Given the description of an element on the screen output the (x, y) to click on. 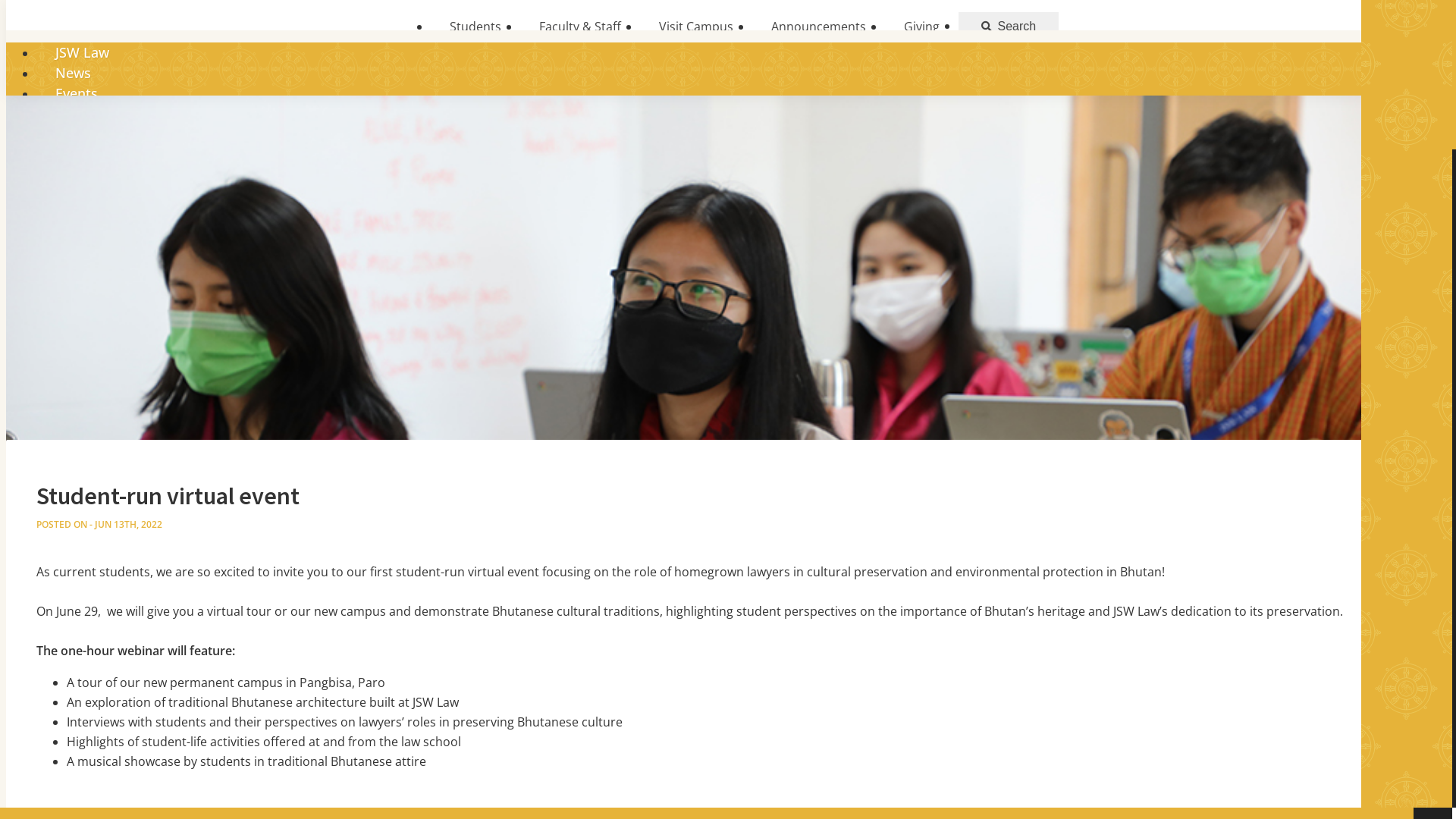
Announcements Element type: text (818, 26)
Search Element type: text (1008, 26)
News Element type: text (72, 72)
Events Element type: text (76, 93)
JSW Law Element type: text (82, 52)
Faculty & Staff Element type: text (580, 26)
Giving Element type: text (920, 26)
Visit Campus Element type: text (696, 26)
Students Element type: text (475, 26)
